Given the description of an element on the screen output the (x, y) to click on. 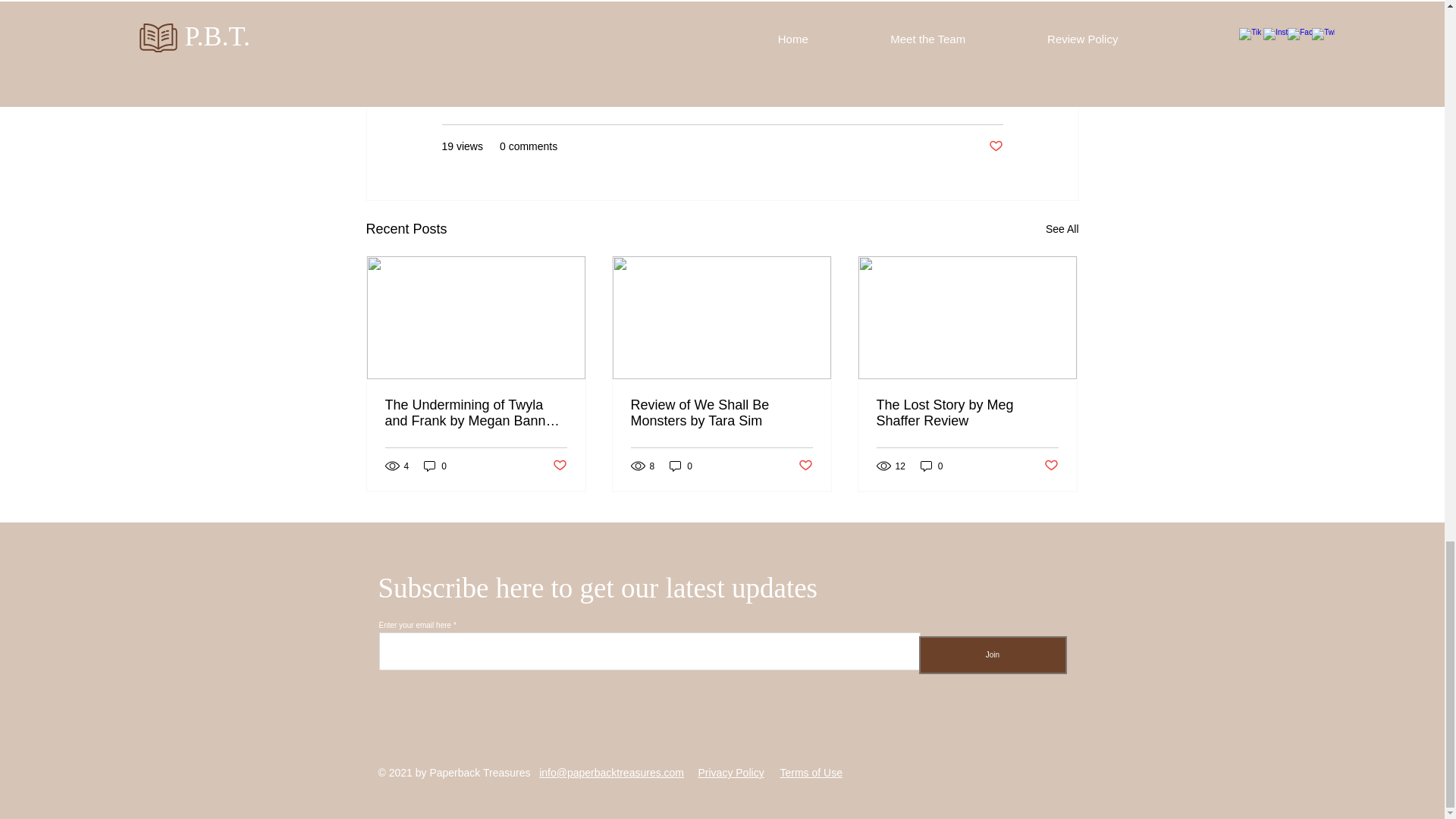
Romance (561, 43)
See All (1061, 229)
Post not marked as liked (995, 146)
June 2022 (703, 43)
Book Review (481, 43)
Book Reviews (929, 101)
2022 (990, 101)
0 (435, 465)
The Undermining of Twyla and Frank by Megan Bannen Review (476, 413)
